Given the description of an element on the screen output the (x, y) to click on. 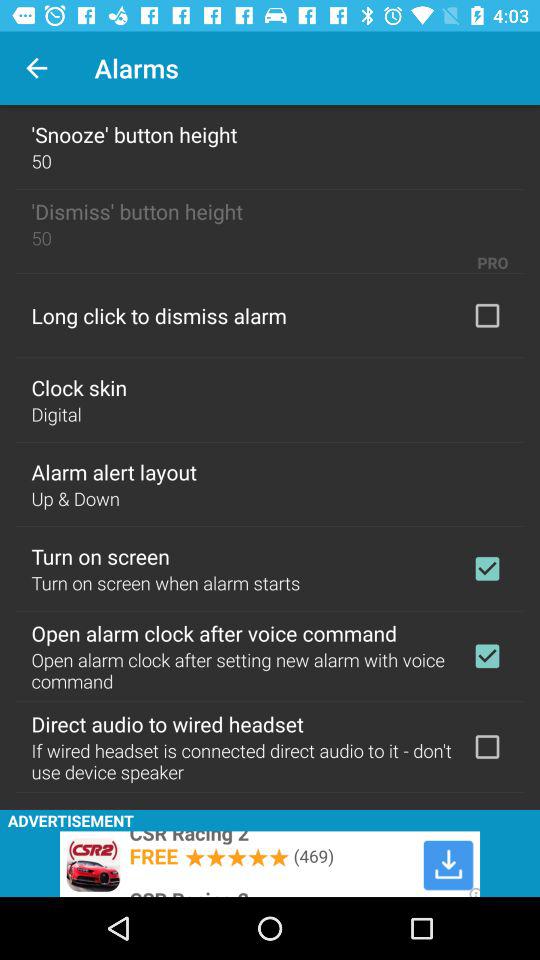
go to add (487, 747)
